Given the description of an element on the screen output the (x, y) to click on. 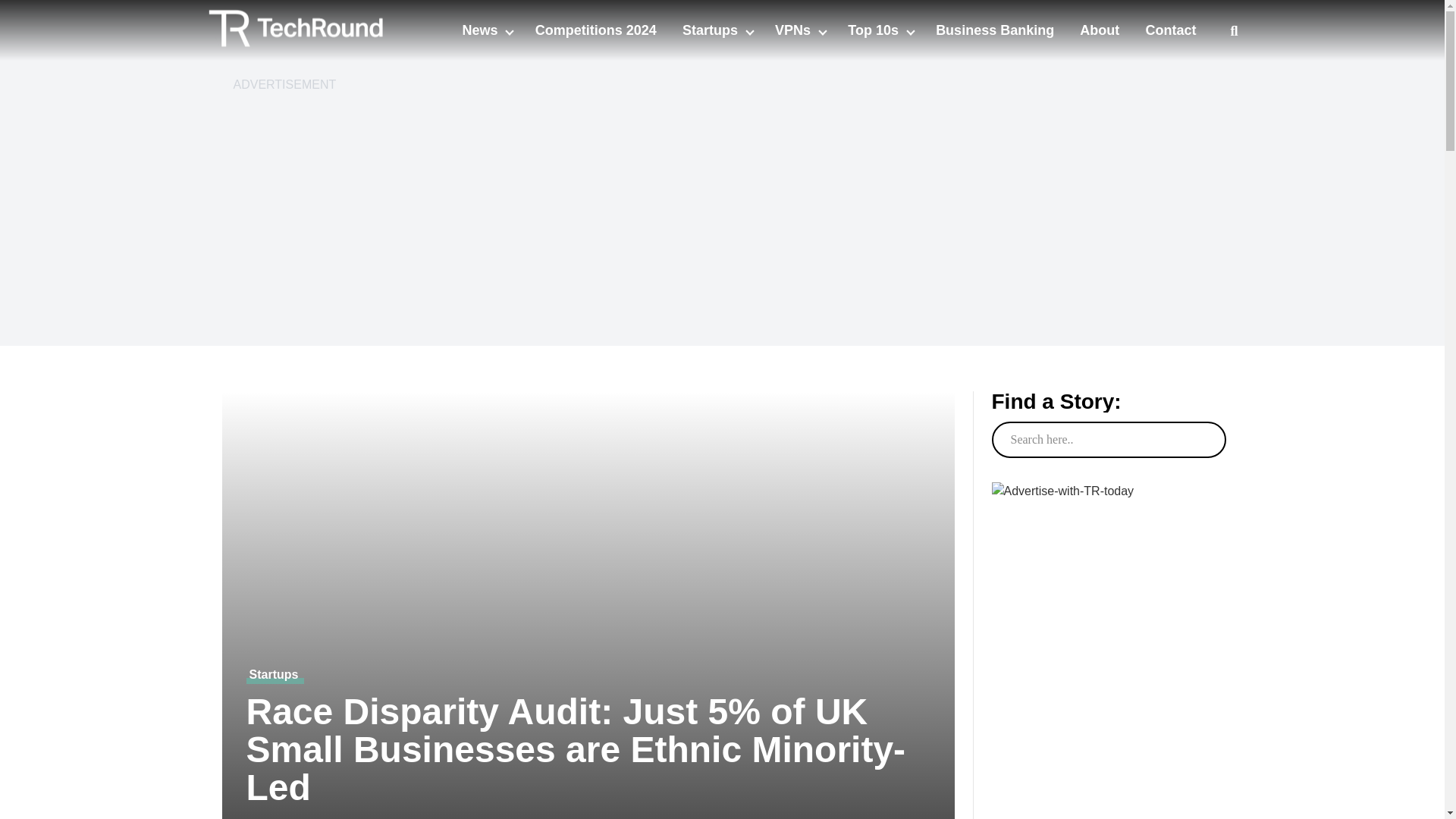
News (480, 30)
Competitions 2024 (596, 30)
VPNs (793, 30)
Top 10s (874, 30)
Startups (711, 30)
